Given the description of an element on the screen output the (x, y) to click on. 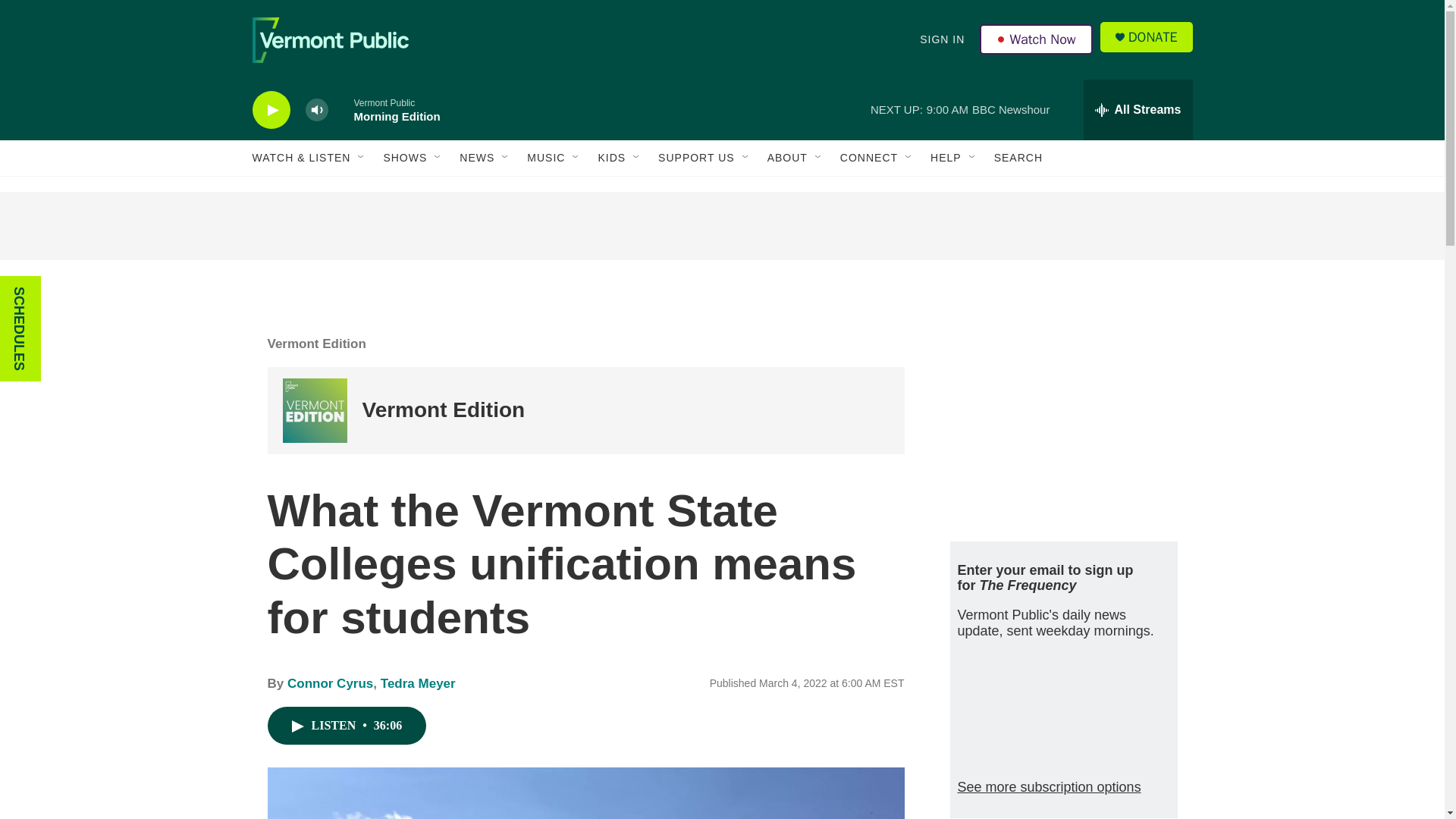
3rd party ad content (721, 225)
3rd party ad content (1062, 416)
